Given the description of an element on the screen output the (x, y) to click on. 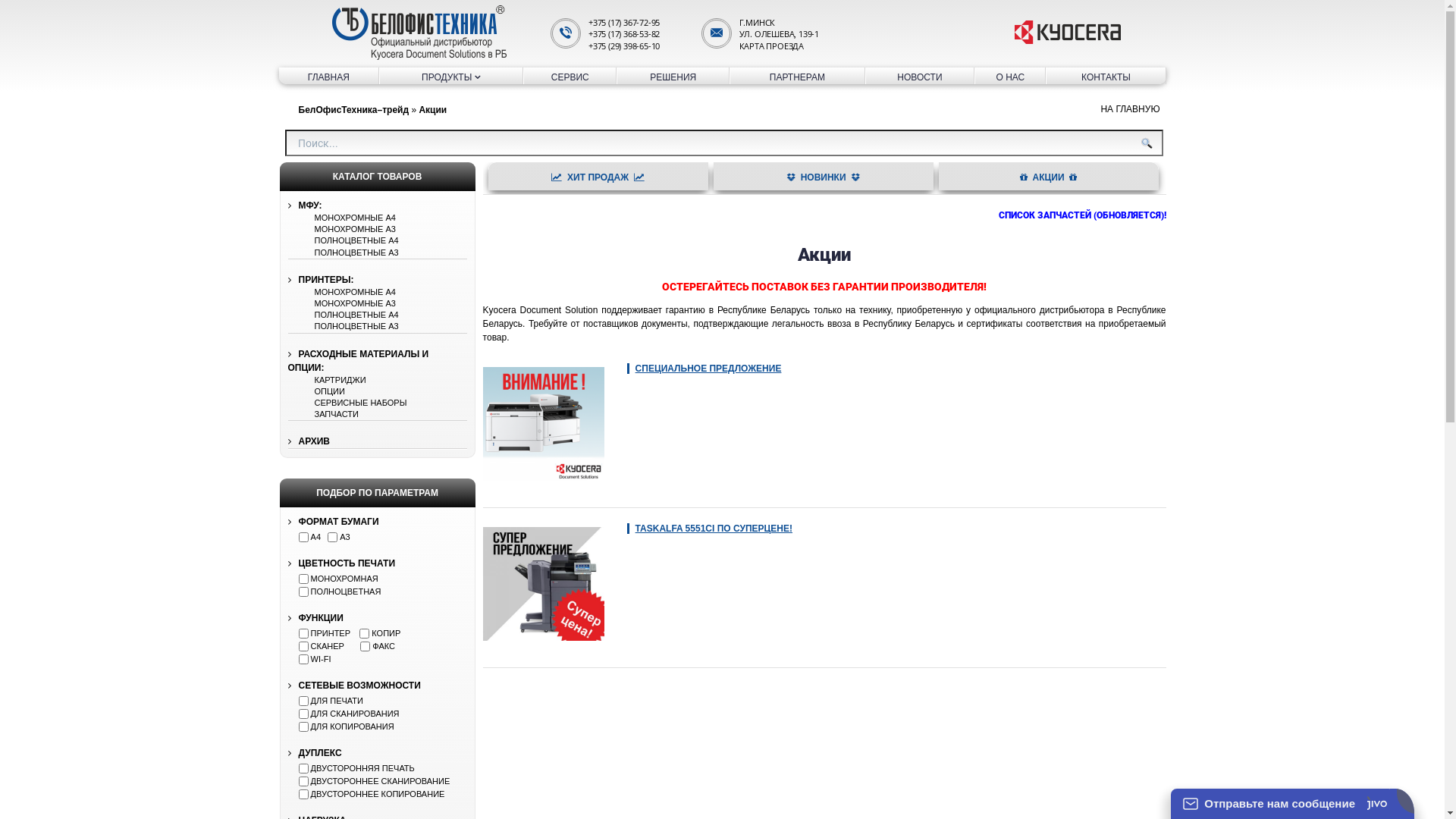
logo Element type: hover (419, 32)
logo Element type: hover (1067, 32)
